Given the description of an element on the screen output the (x, y) to click on. 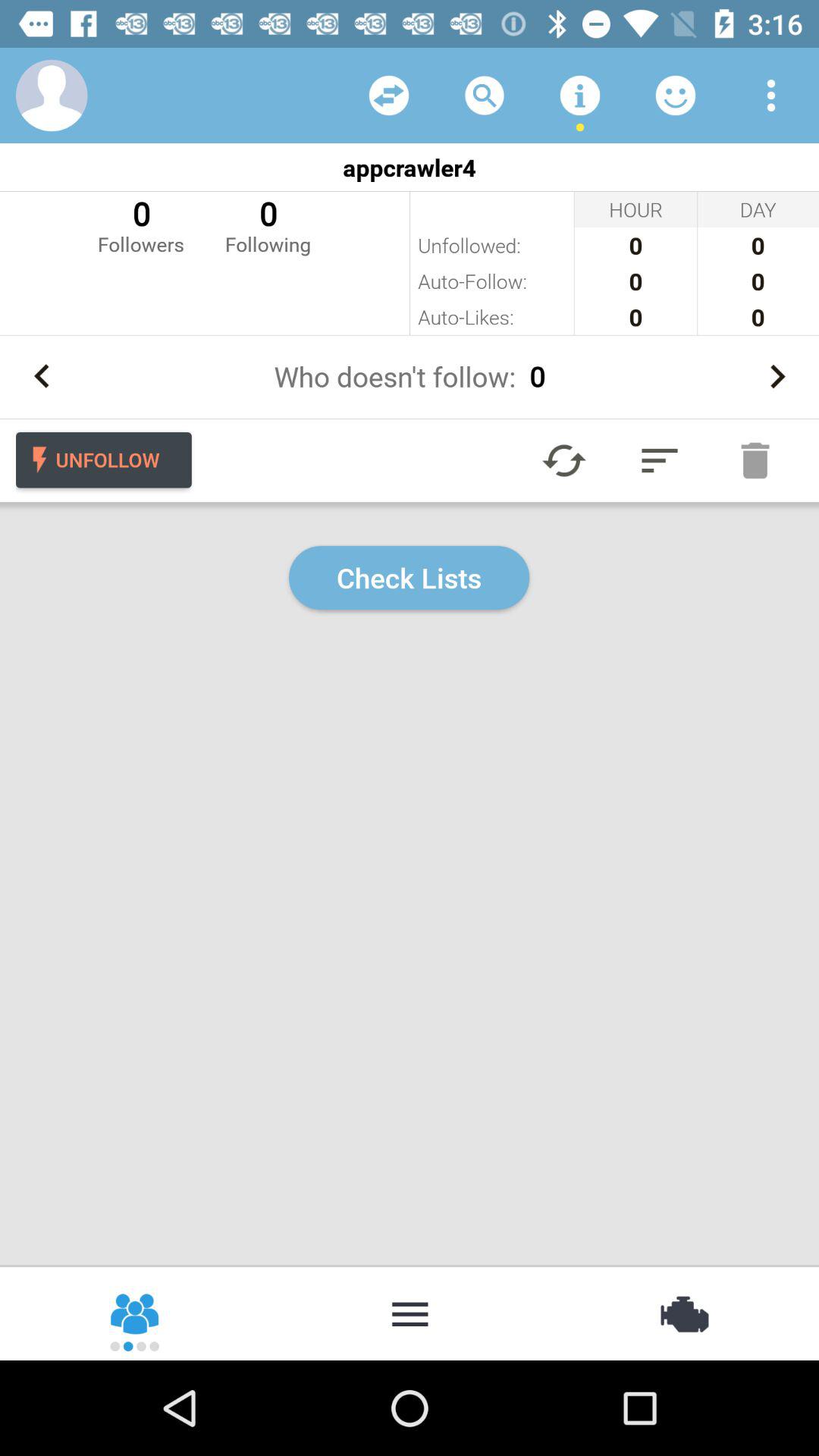
delete (755, 460)
